Given the description of an element on the screen output the (x, y) to click on. 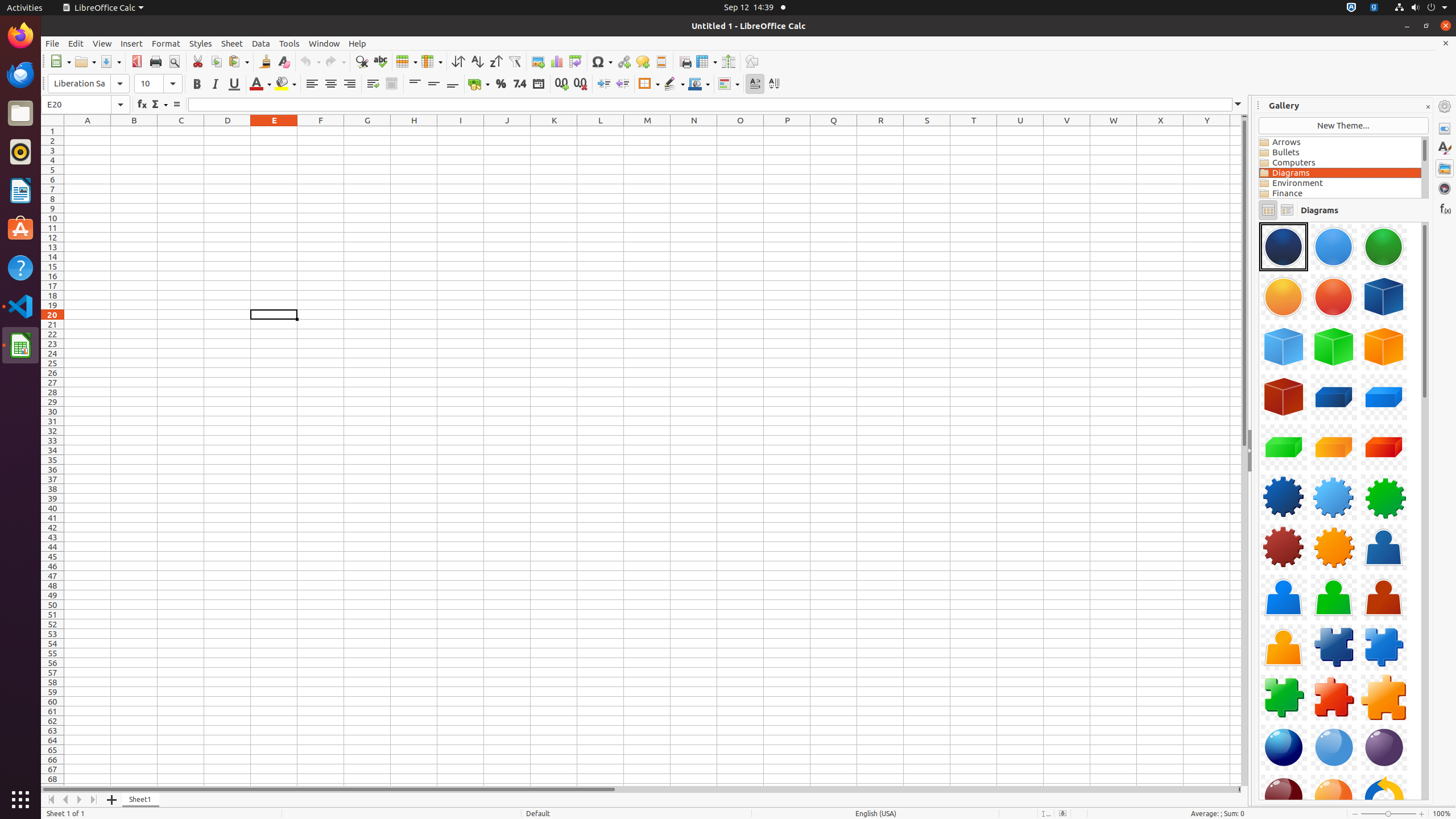
Styles Element type: menu (200, 43)
Align Top Element type: push-button (414, 83)
Component-Circle02-Transparent-Bule Element type: list-item (1333, 246)
Percent Element type: push-button (500, 83)
E1 Element type: table-cell (273, 130)
